Given the description of an element on the screen output the (x, y) to click on. 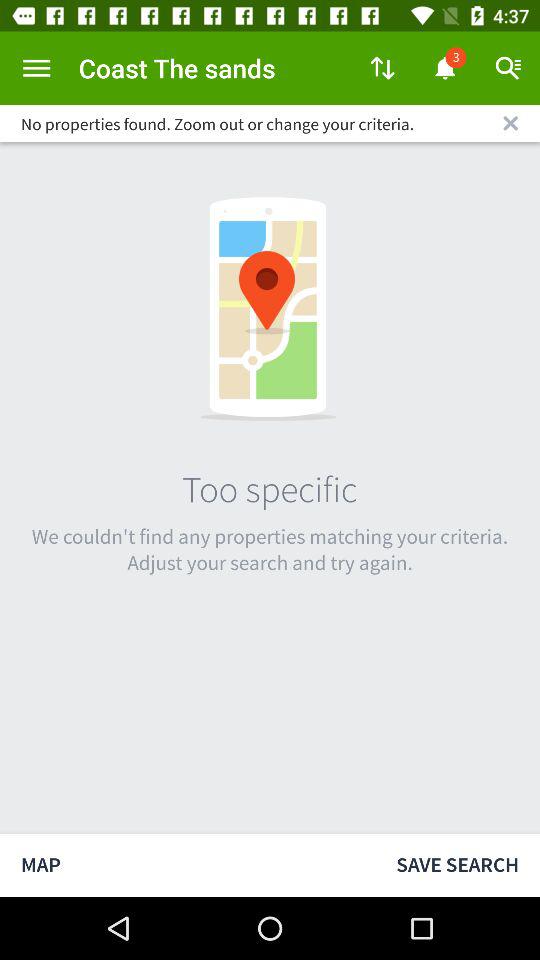
turn off the icon next to coast the sands (381, 67)
